Given the description of an element on the screen output the (x, y) to click on. 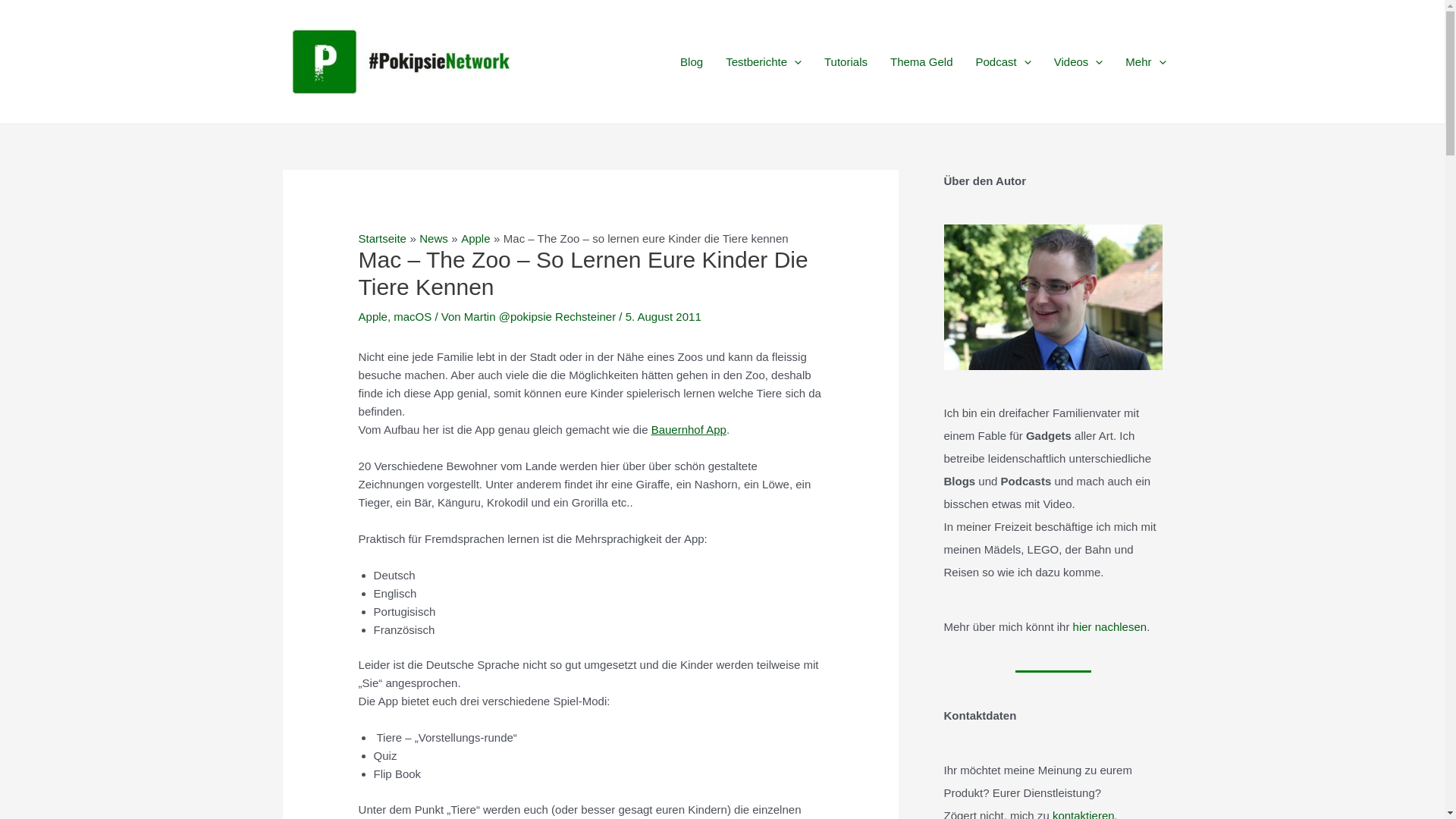
Bauernhof App Element type: text (688, 429)
hier nachlesen Element type: text (1110, 626)
Martin @pokipsie Rechsteiner Element type: text (541, 316)
Testberichte Element type: text (763, 60)
Thema Geld Element type: text (921, 60)
Videos Element type: text (1078, 60)
Apple Element type: text (475, 238)
Apple Element type: text (372, 316)
Startseite Element type: text (382, 238)
macOS Element type: text (412, 316)
Mehr Element type: text (1144, 60)
Blog Element type: text (691, 60)
Podcast Element type: text (1003, 60)
Tutorials Element type: text (845, 60)
News Element type: text (433, 238)
